Given the description of an element on the screen output the (x, y) to click on. 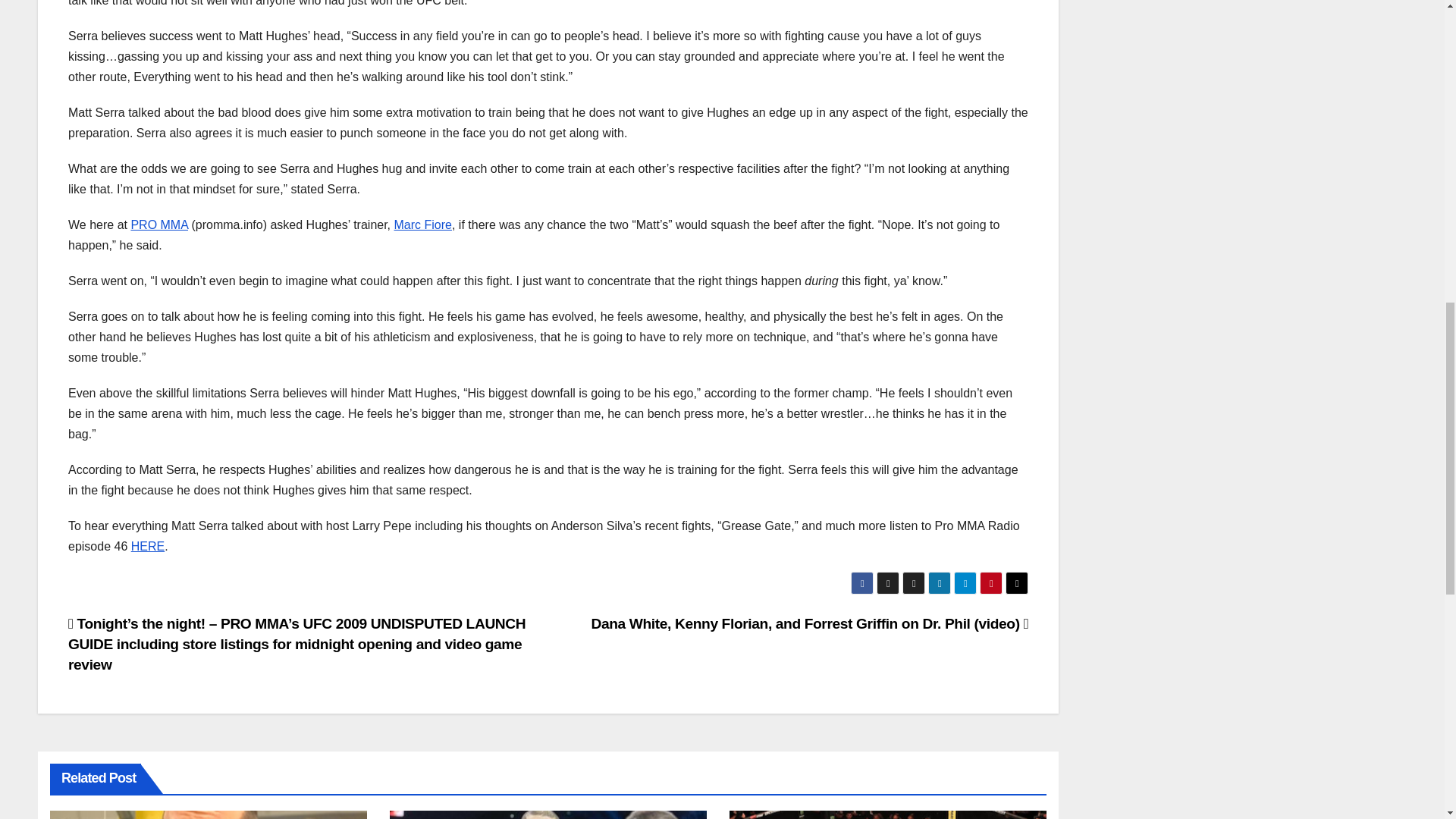
PRO MMA (159, 224)
Marc Fiore (422, 224)
HERE (147, 545)
